Given the description of an element on the screen output the (x, y) to click on. 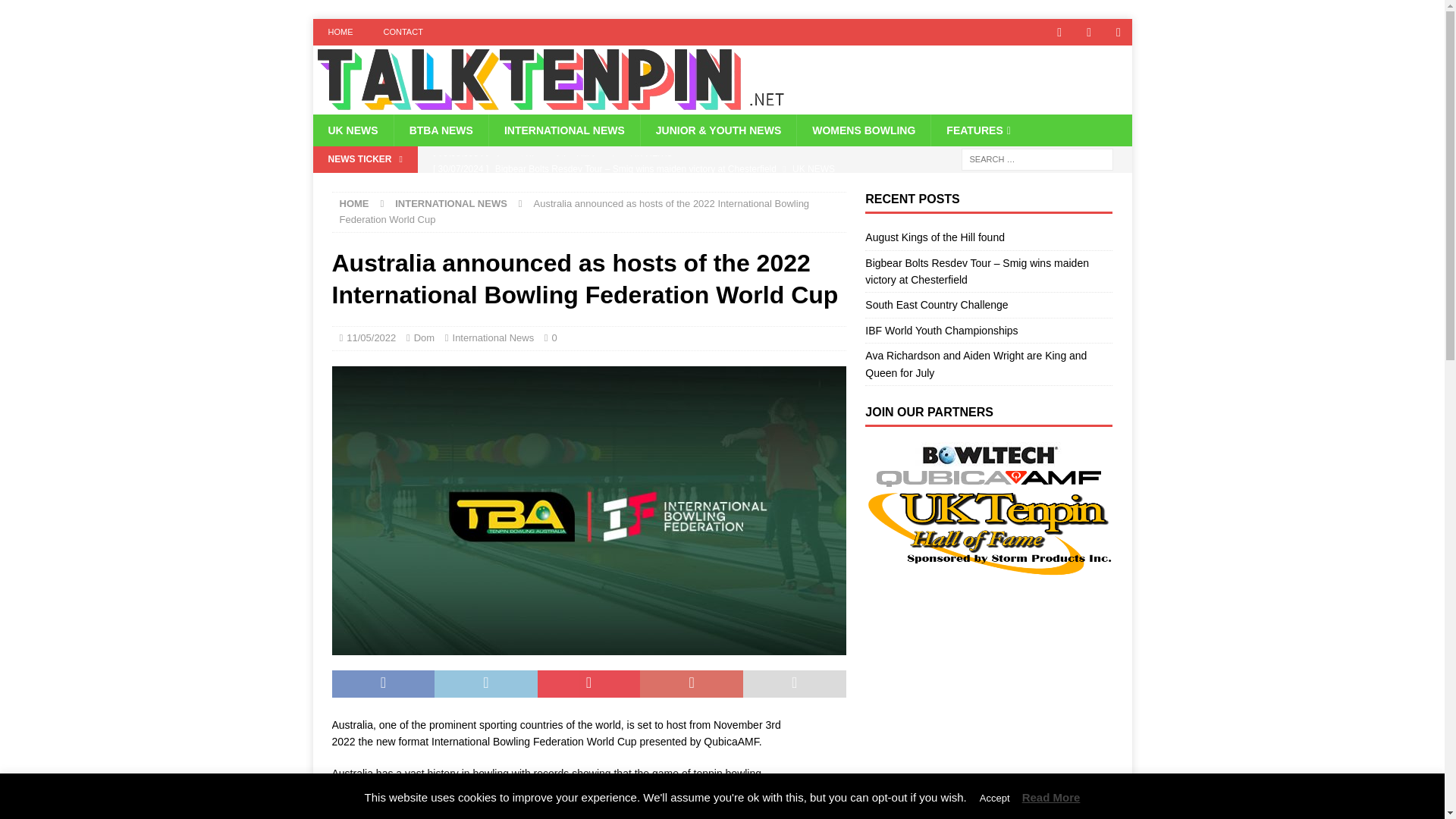
INTERNATIONAL NEWS (563, 130)
FEATURES (978, 130)
HOME (354, 203)
BTBA NEWS (440, 130)
HOME (340, 31)
Talk Tenpin (550, 105)
International News (493, 337)
INTERNATIONAL NEWS (450, 203)
WOMENS BOWLING (863, 130)
Search (56, 11)
